Given the description of an element on the screen output the (x, y) to click on. 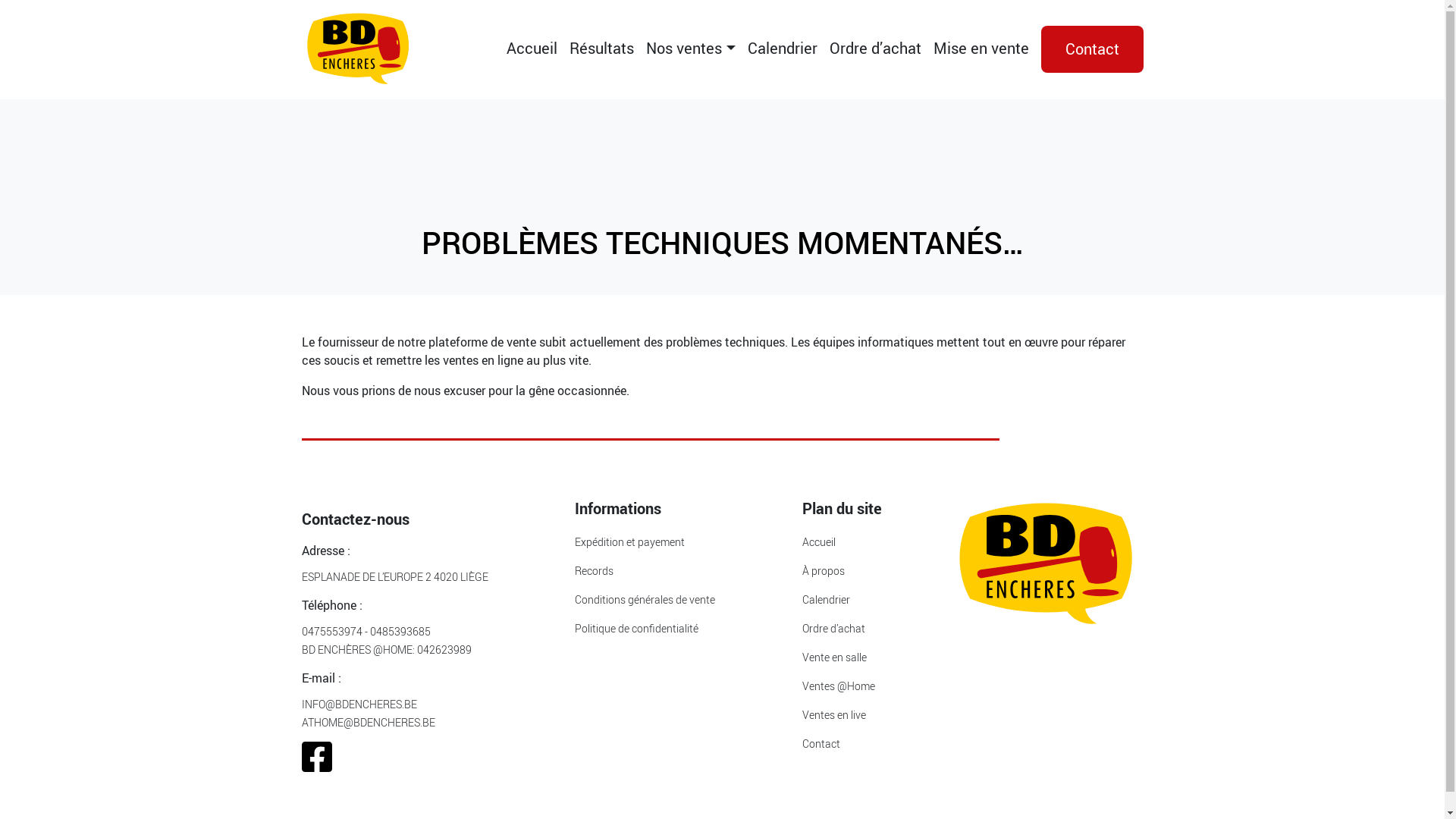
Calendrier Element type: text (826, 599)
Calendrier Element type: text (782, 49)
0475553974 Element type: text (331, 631)
Records Element type: text (593, 570)
Nos ventes Element type: text (690, 49)
ATHOME@BDENCHERES.BE Element type: text (368, 722)
Vente en salle Element type: text (834, 656)
Mise en vente Element type: text (980, 49)
Ventes en live Element type: text (834, 714)
Ventes @Home Element type: text (838, 685)
Accueil Element type: text (818, 541)
INFO@BDENCHERES.BE Element type: text (359, 703)
Accueil Element type: text (531, 49)
Contact Element type: text (1091, 48)
0485393685 Element type: text (400, 631)
Contact Element type: text (821, 743)
